Given the description of an element on the screen output the (x, y) to click on. 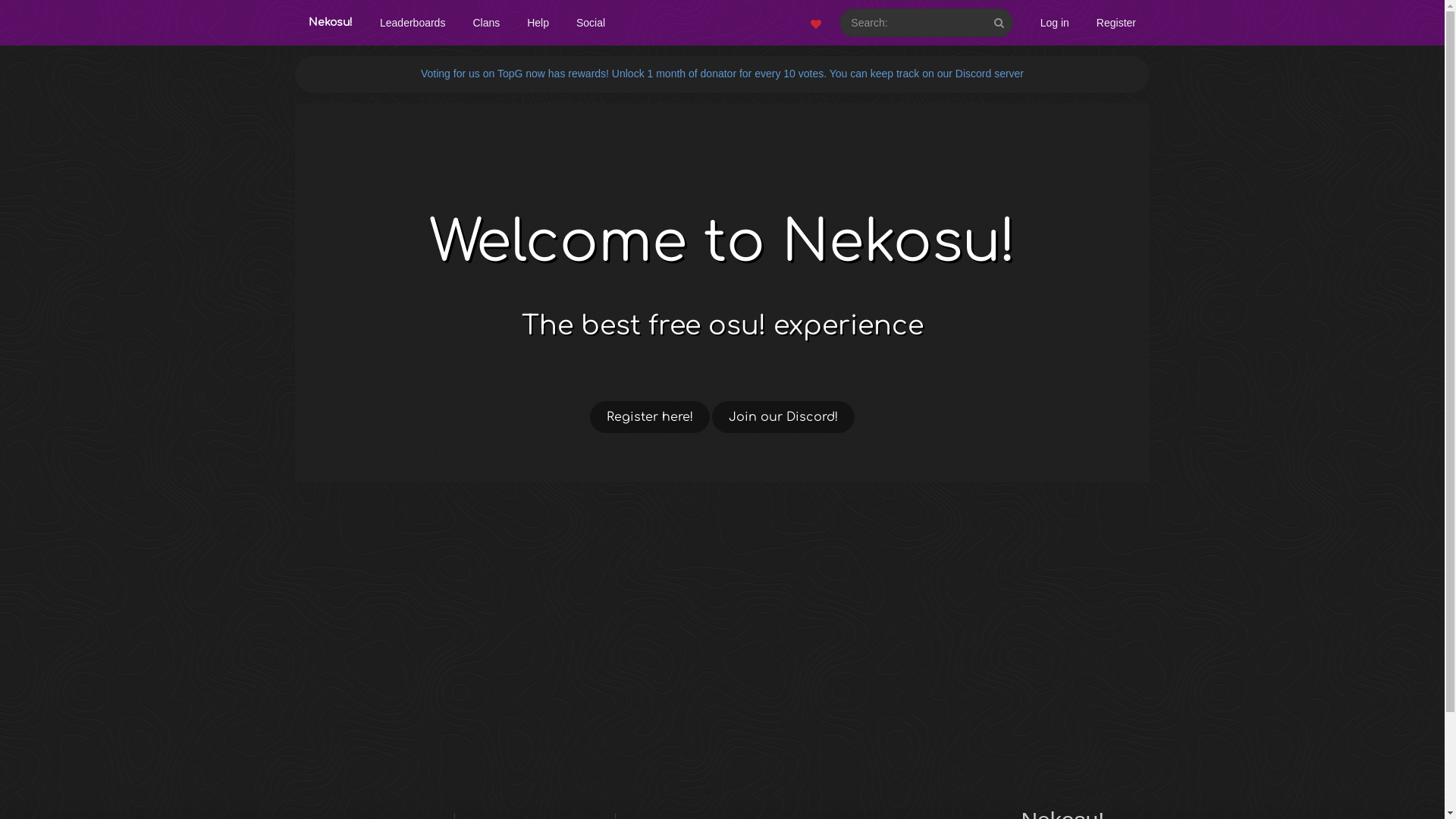
Register Element type: text (1115, 22)
Register here! Element type: text (649, 417)
Log in Element type: text (1054, 22)
Join our Discord! Element type: text (783, 417)
Nekosu! Element type: text (330, 22)
